Given the description of an element on the screen output the (x, y) to click on. 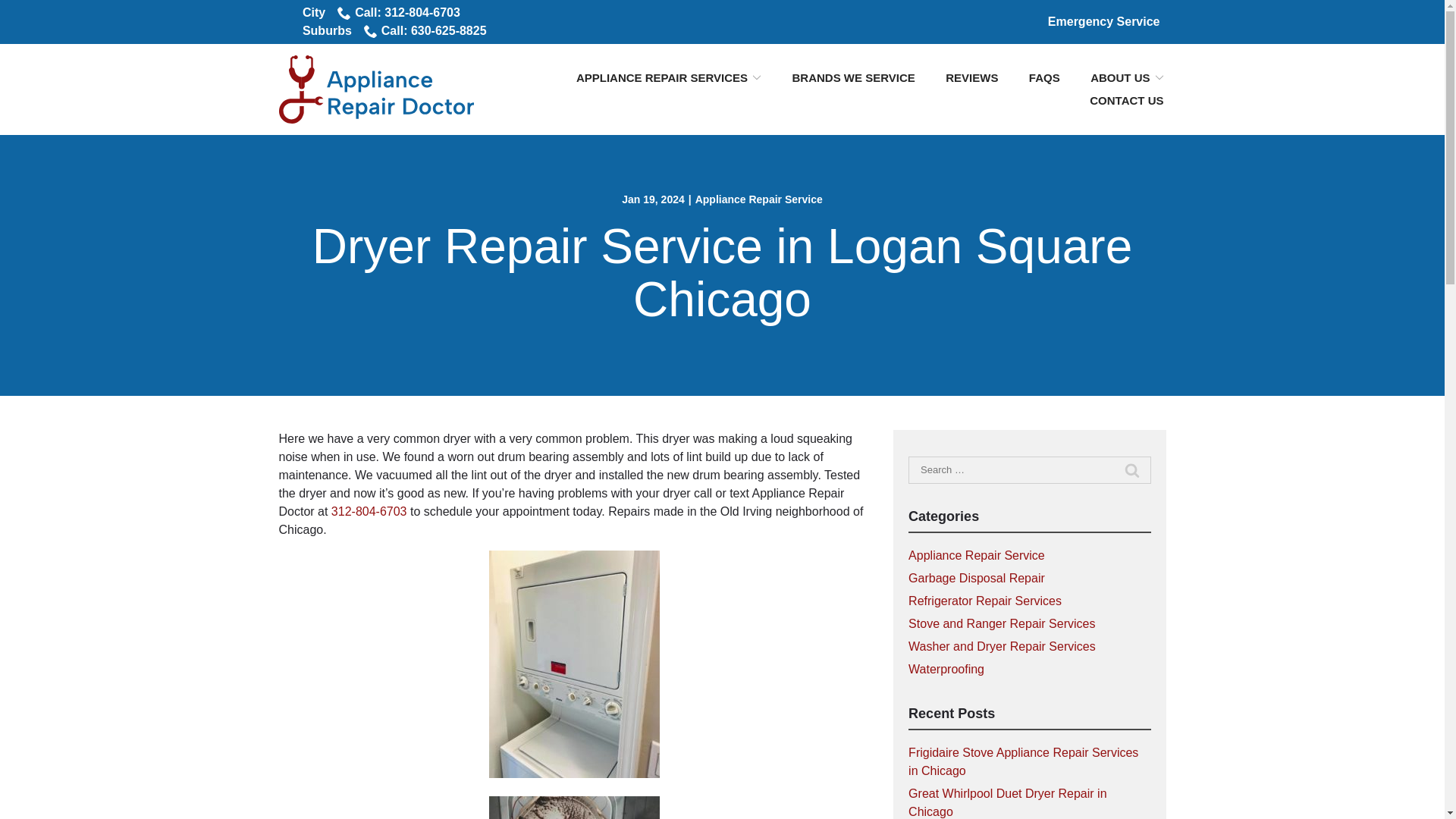
312-804-6703 (369, 511)
FAQS (1044, 77)
CONTACT US (1126, 100)
Appliance Repair Service (758, 199)
APPLIANCE REPAIR SERVICES (668, 77)
BRANDS WE SERVICE (853, 77)
REVIEWS (970, 77)
Call: 312-804-6703 (398, 13)
Suburbs (327, 31)
ABOUT US (1126, 77)
